Given the description of an element on the screen output the (x, y) to click on. 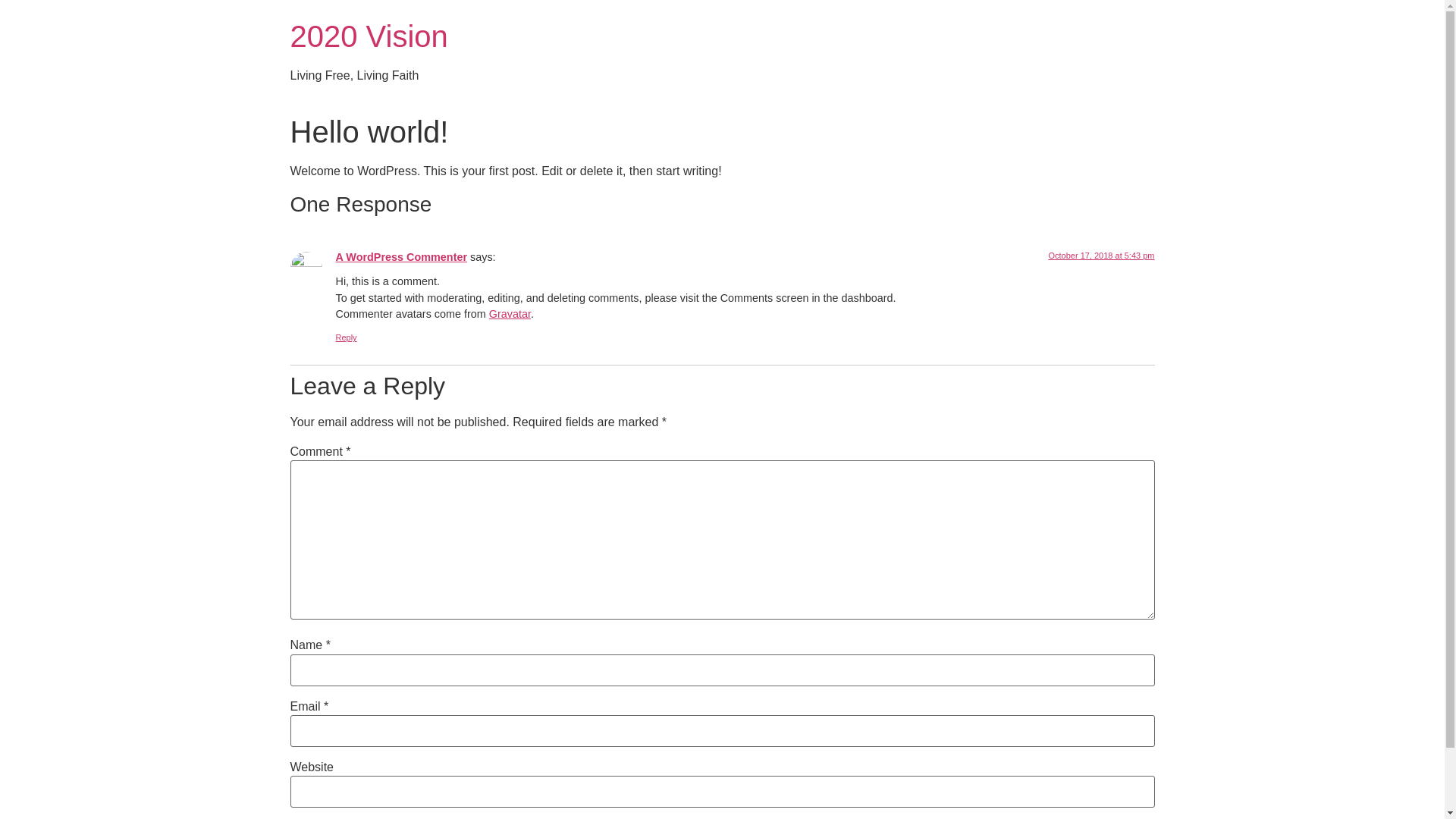
A WordPress Commenter Element type: text (401, 257)
Reply Element type: text (345, 337)
2020 Vision Element type: text (368, 36)
October 17, 2018 at 5:43 pm Element type: text (1101, 255)
Gravatar Element type: text (509, 313)
